Given the description of an element on the screen output the (x, y) to click on. 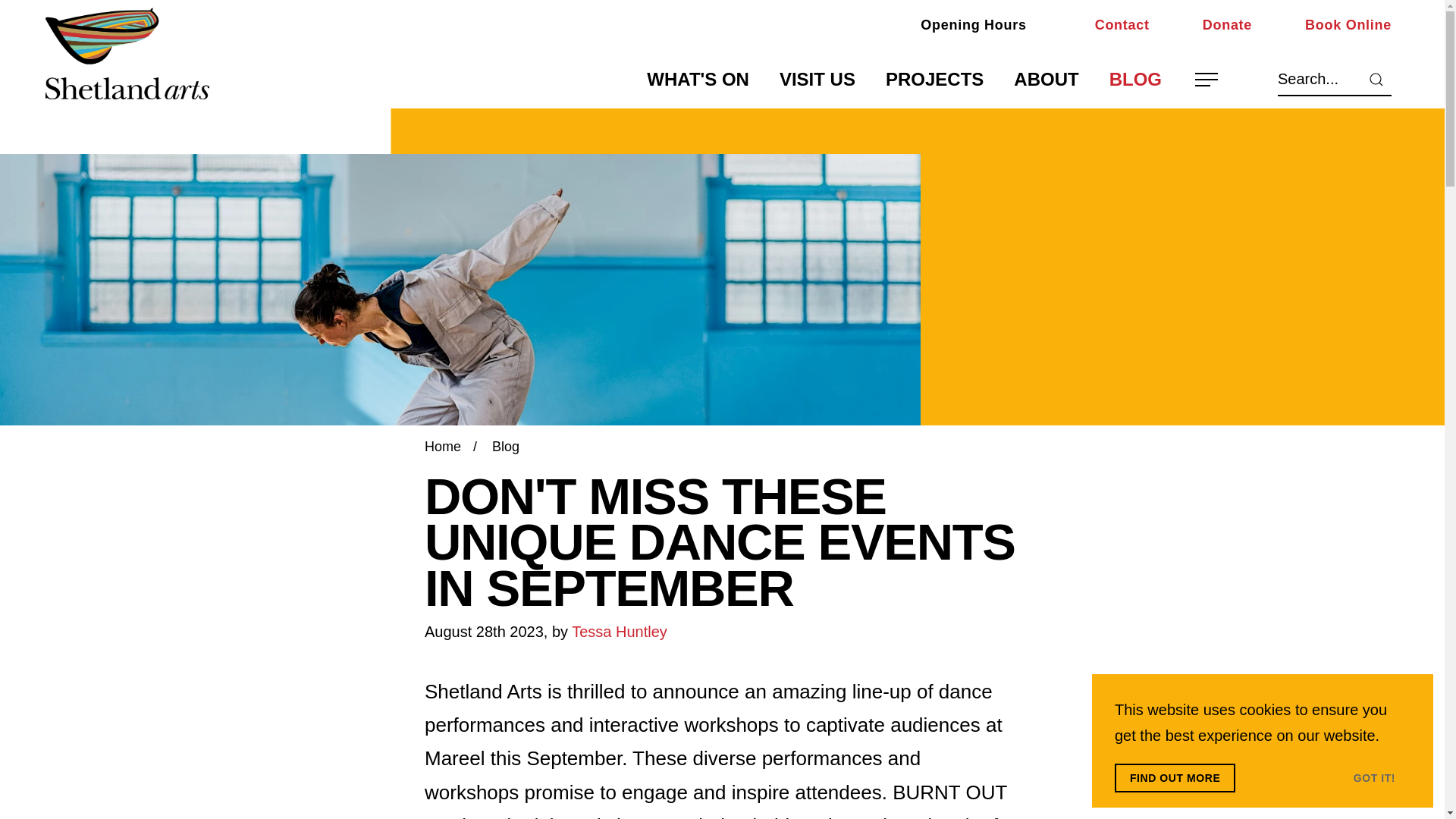
PROJECTS (934, 79)
VISIT US (817, 79)
Donate (1212, 25)
Opening Hours (958, 25)
WHAT'S ON (697, 79)
Book Online (1333, 25)
Contact (1107, 25)
